Given the description of an element on the screen output the (x, y) to click on. 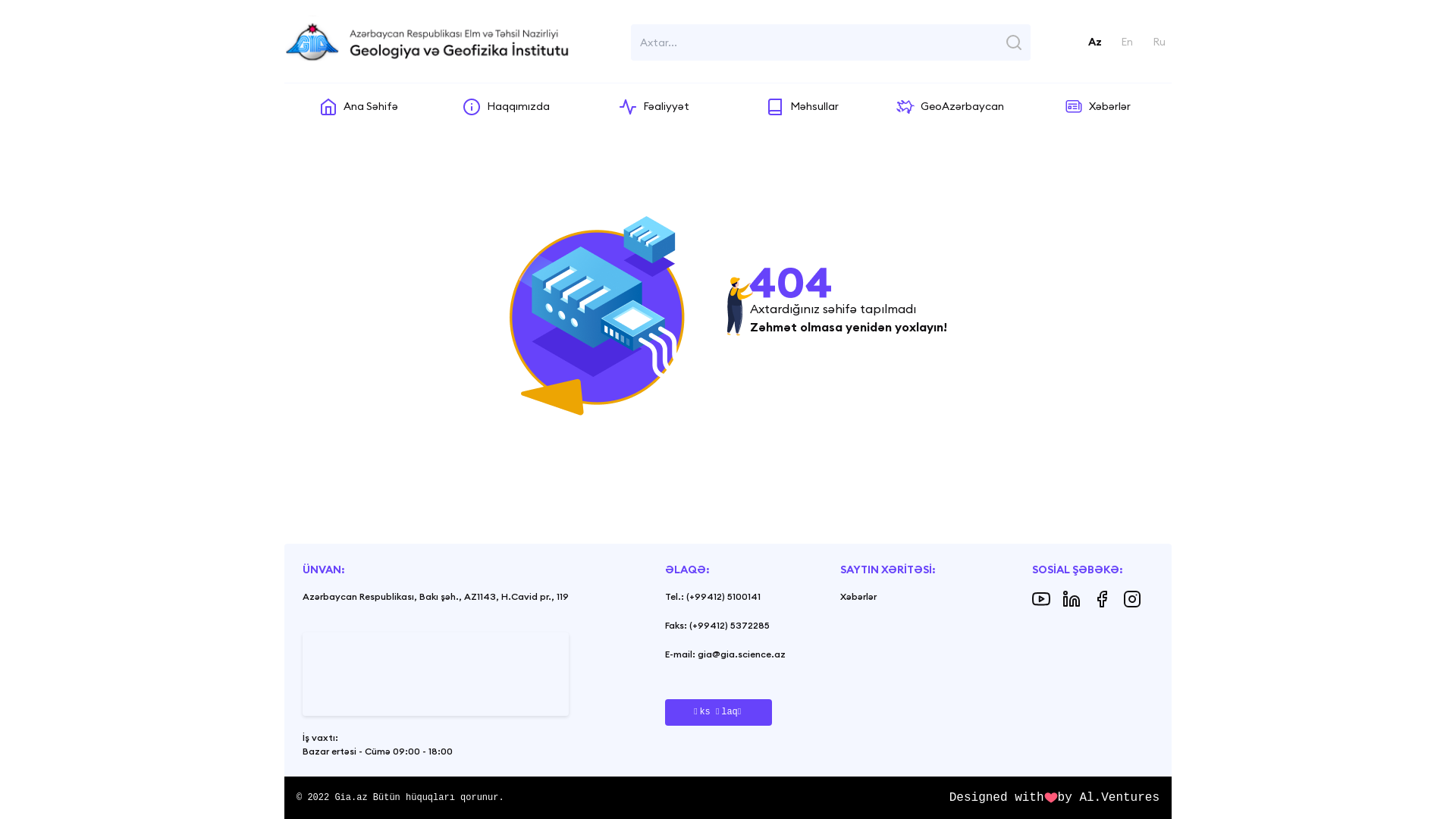
En Element type: text (1126, 42)
Ru Element type: text (1158, 42)
by Al.Ventures Element type: text (1108, 797)
Az Element type: text (1094, 42)
